Given the description of an element on the screen output the (x, y) to click on. 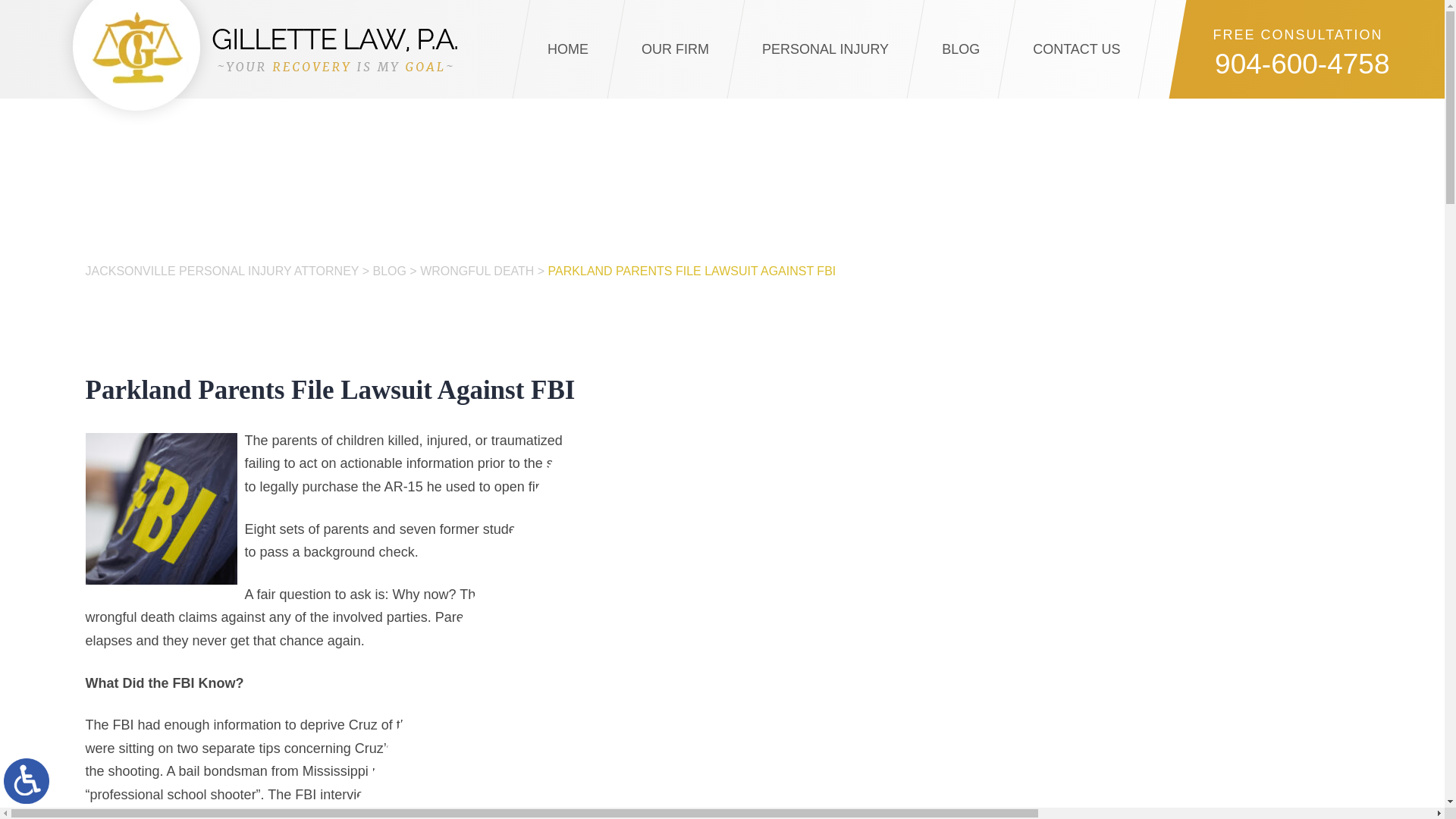
HOME (567, 49)
Switch to ADA Accessible Theme (26, 780)
OUR FIRM (674, 49)
PERSONAL INJURY (825, 49)
904-600-4758 (1281, 65)
